Given the description of an element on the screen output the (x, y) to click on. 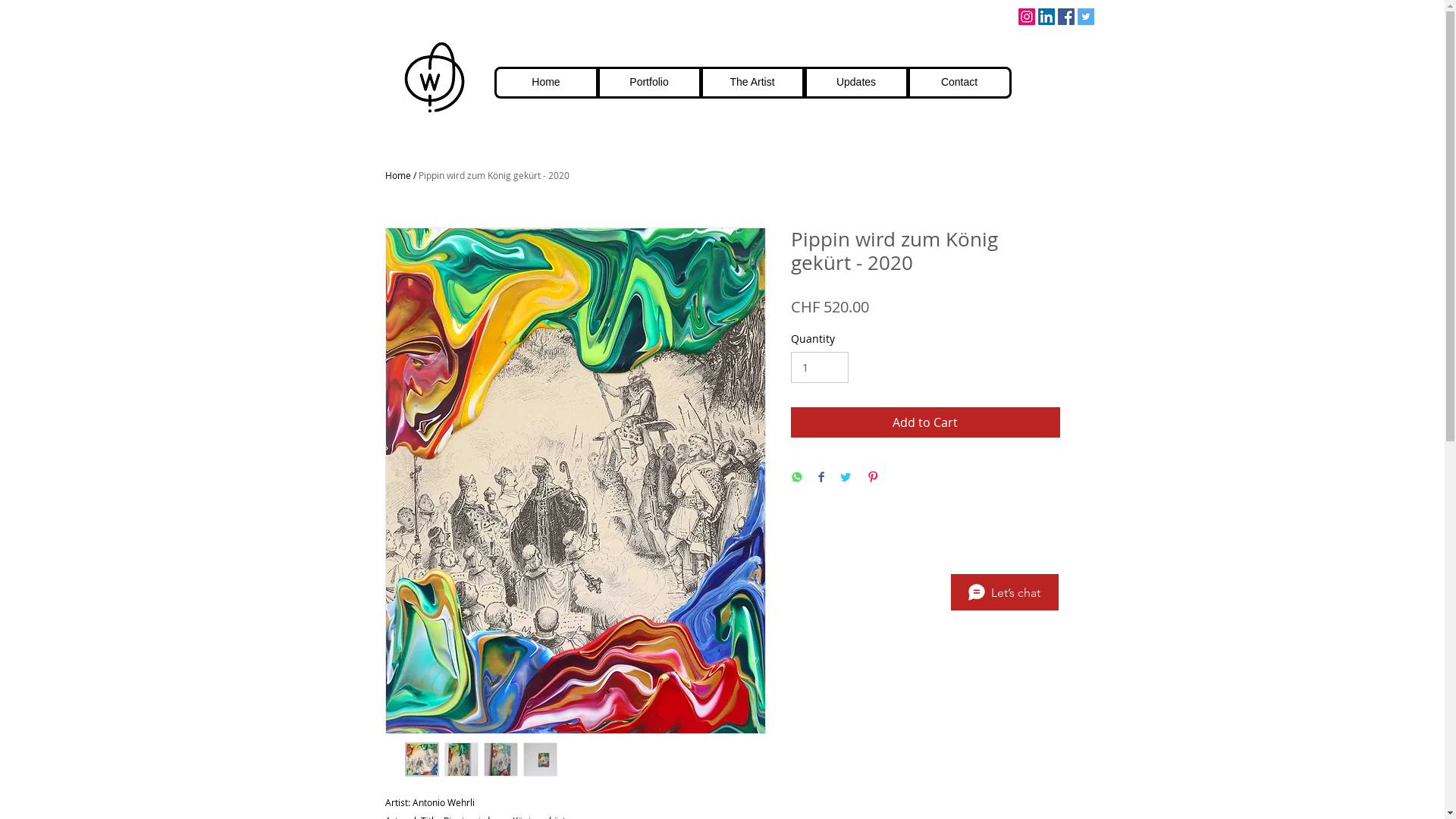
AW Antonio Wehrli Art Chengdu China Element type: hover (434, 76)
Add to Cart Element type: text (924, 422)
Home Element type: text (398, 175)
Contact Element type: text (958, 82)
Updates Element type: text (855, 82)
The Artist Element type: text (752, 82)
Portfolio Element type: text (649, 82)
Home Element type: text (546, 82)
